Given the description of an element on the screen output the (x, y) to click on. 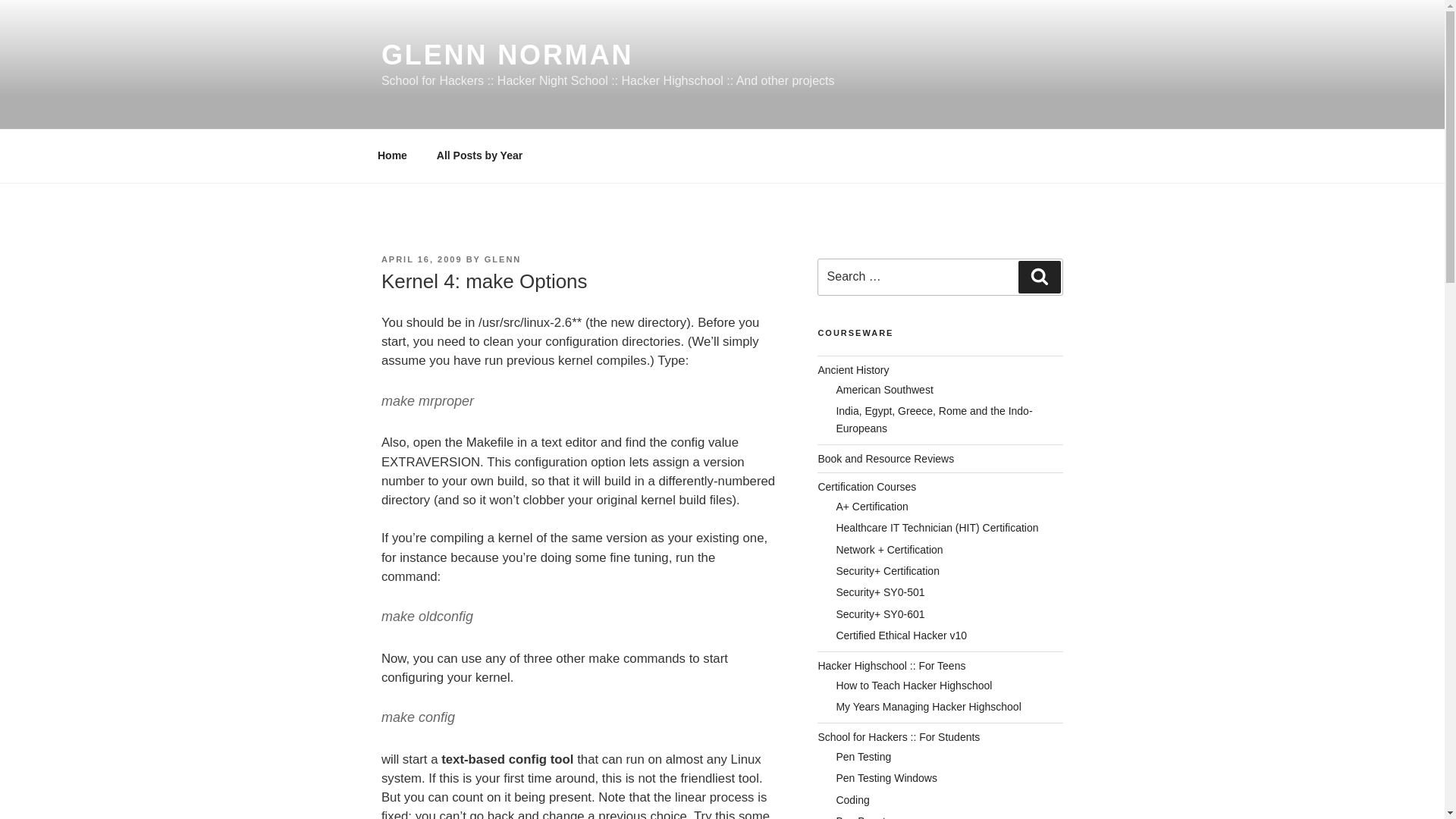
All Posts by Year (479, 155)
Coding (852, 799)
Ancient History (852, 369)
Certified Ethical Hacker v10 (900, 635)
How to Teach Hacker Highschool (913, 685)
Search (1039, 276)
GLENN (502, 258)
American Southwest (884, 389)
Home (392, 155)
My Years Managing Hacker Highschool (927, 706)
